Given the description of an element on the screen output the (x, y) to click on. 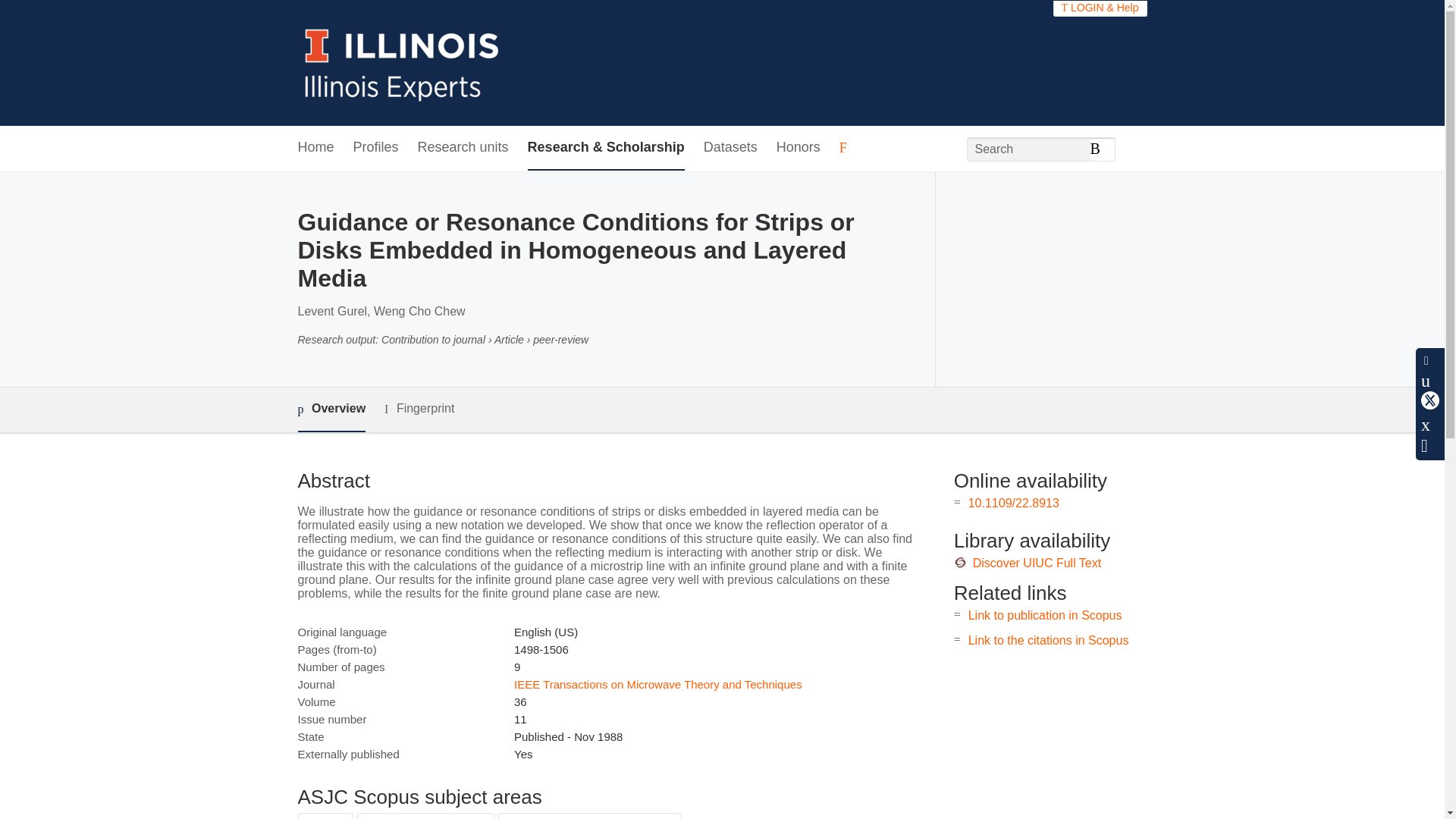
Honors (798, 148)
Profiles (375, 148)
Link to the citations in Scopus (1048, 640)
Discover UIUC Full Text (1037, 562)
Research units (462, 148)
Link to publication in Scopus (1045, 615)
Datasets (730, 148)
Fingerprint (419, 408)
IEEE Transactions on Microwave Theory and Techniques (657, 684)
Overview (331, 409)
University of Illinois Urbana-Champaign Home (402, 62)
Home (315, 148)
